Given the description of an element on the screen output the (x, y) to click on. 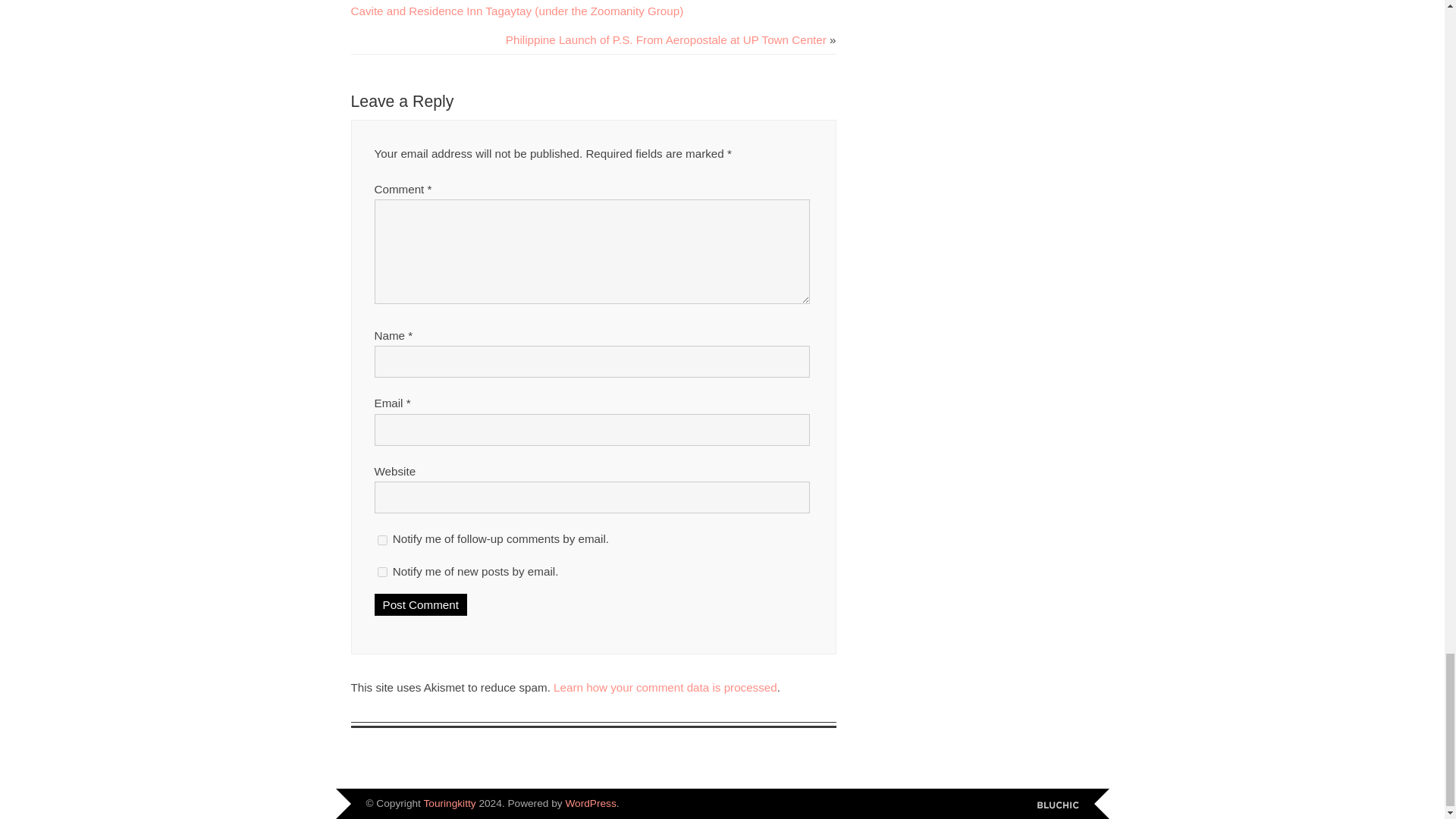
subscribe (382, 572)
Post Comment (420, 604)
Theme designed by BluChic (1057, 805)
subscribe (382, 540)
